Given the description of an element on the screen output the (x, y) to click on. 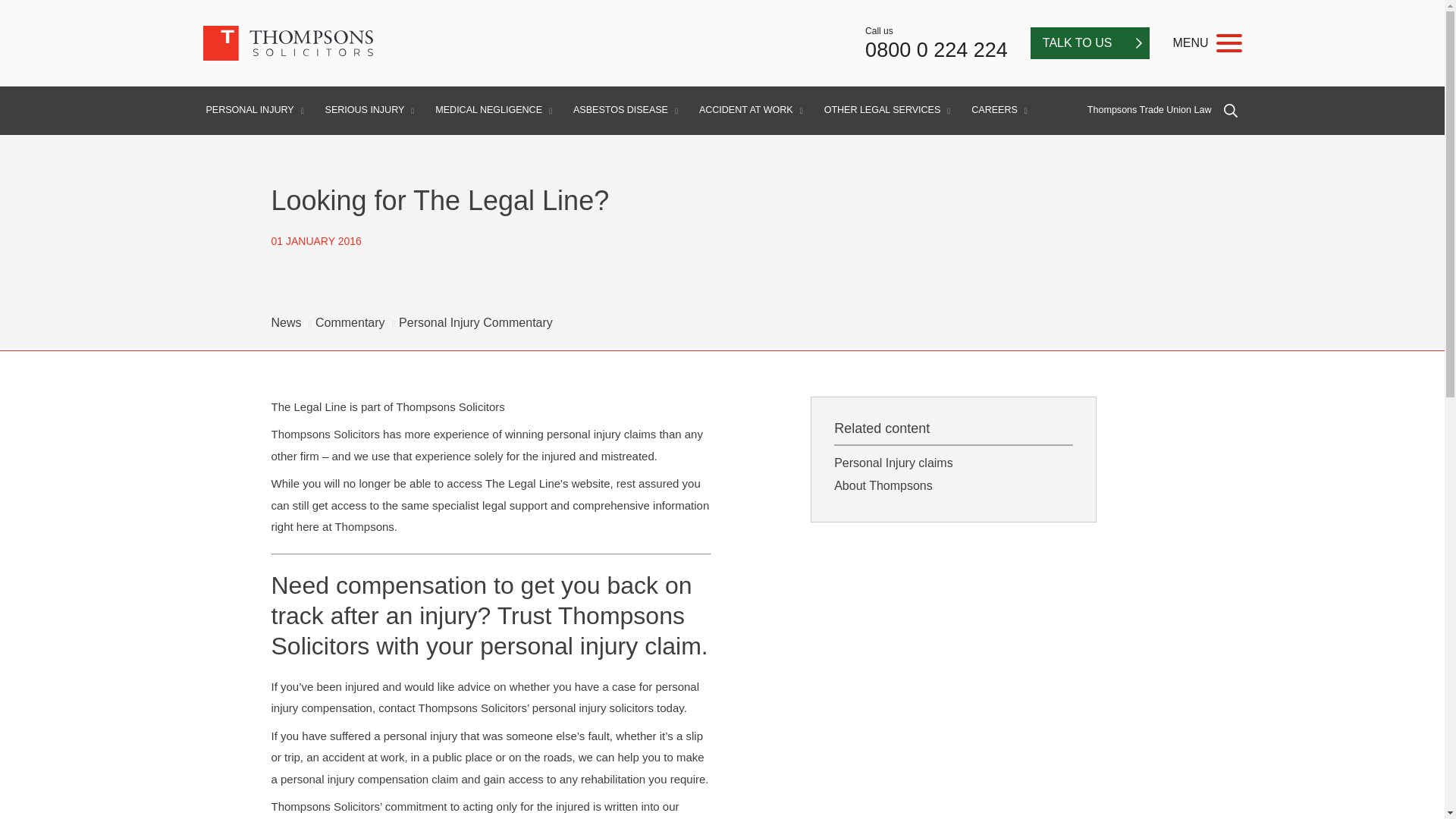
Commentary (350, 322)
Customer reviews powered by Trustpilot (727, 46)
Personal Injury (475, 322)
News (285, 322)
